Given the description of an element on the screen output the (x, y) to click on. 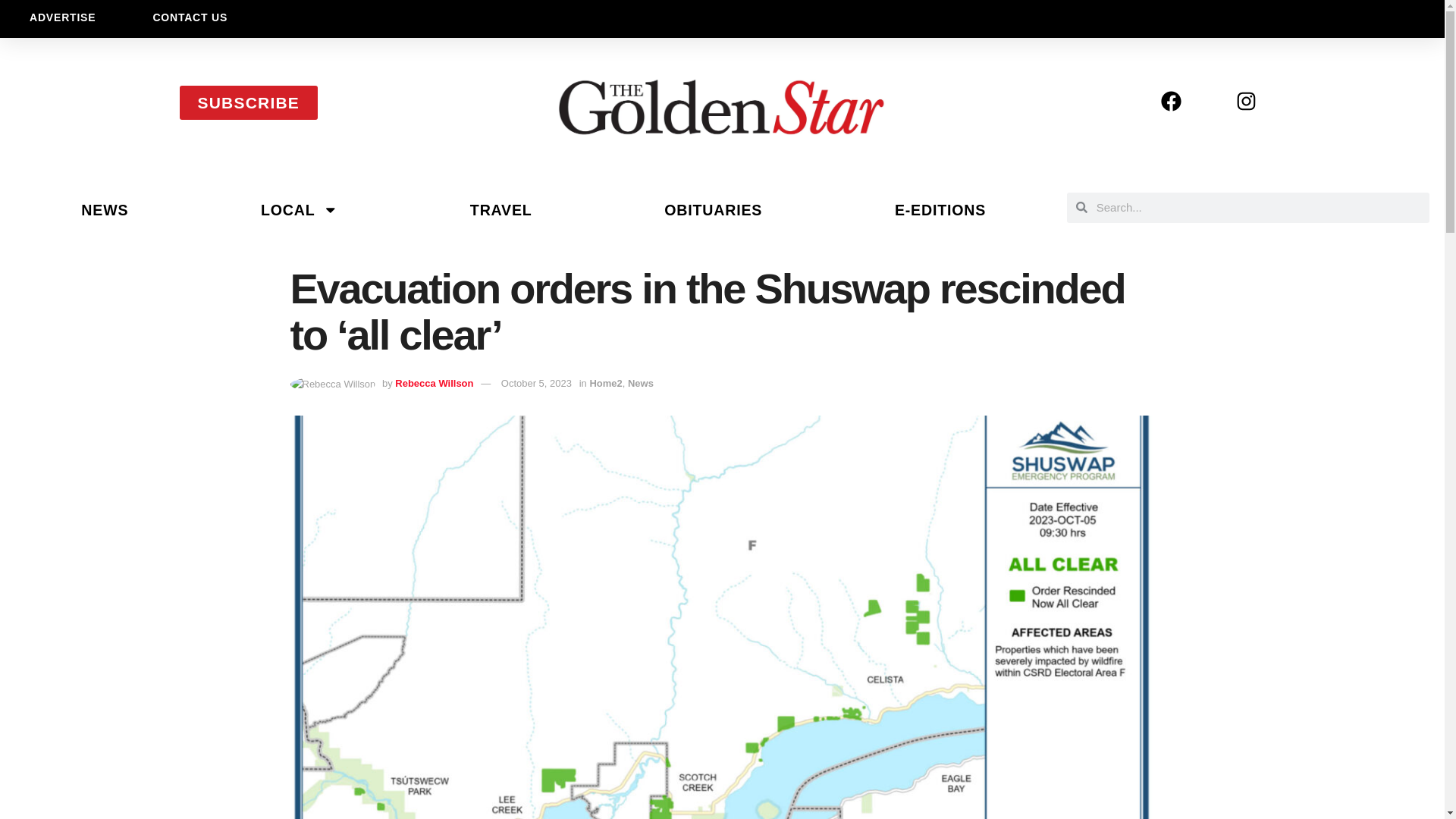
Rebecca Willson (433, 383)
News (640, 383)
LOCAL (299, 209)
Home2 (605, 383)
NEWS (104, 209)
SUBSCRIBE (248, 102)
CONTACT US (189, 17)
TRAVEL (499, 209)
E-EDITIONS (940, 209)
OBITUARIES (713, 209)
